Given the description of an element on the screen output the (x, y) to click on. 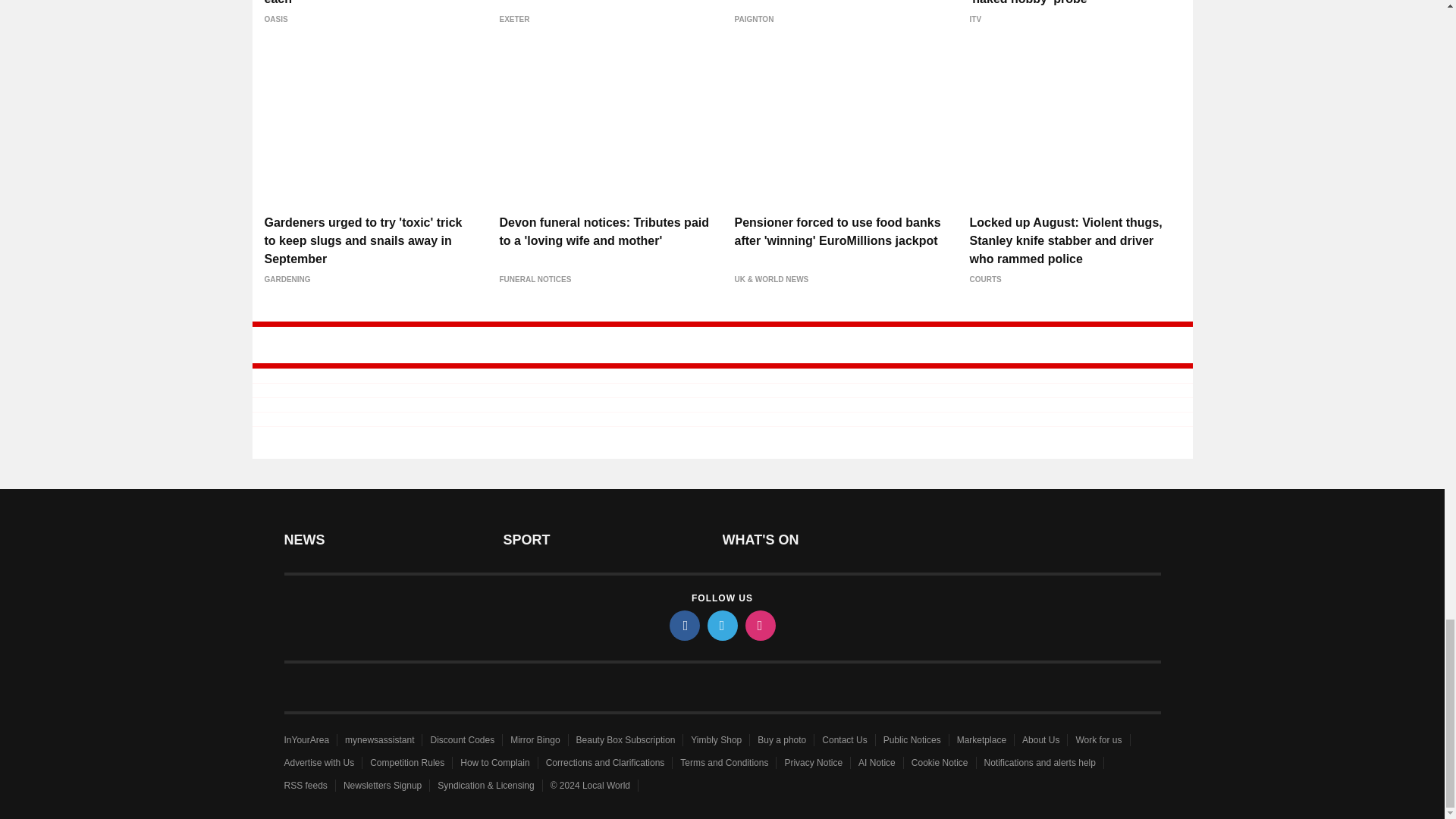
instagram (759, 625)
facebook (683, 625)
twitter (721, 625)
